Given the description of an element on the screen output the (x, y) to click on. 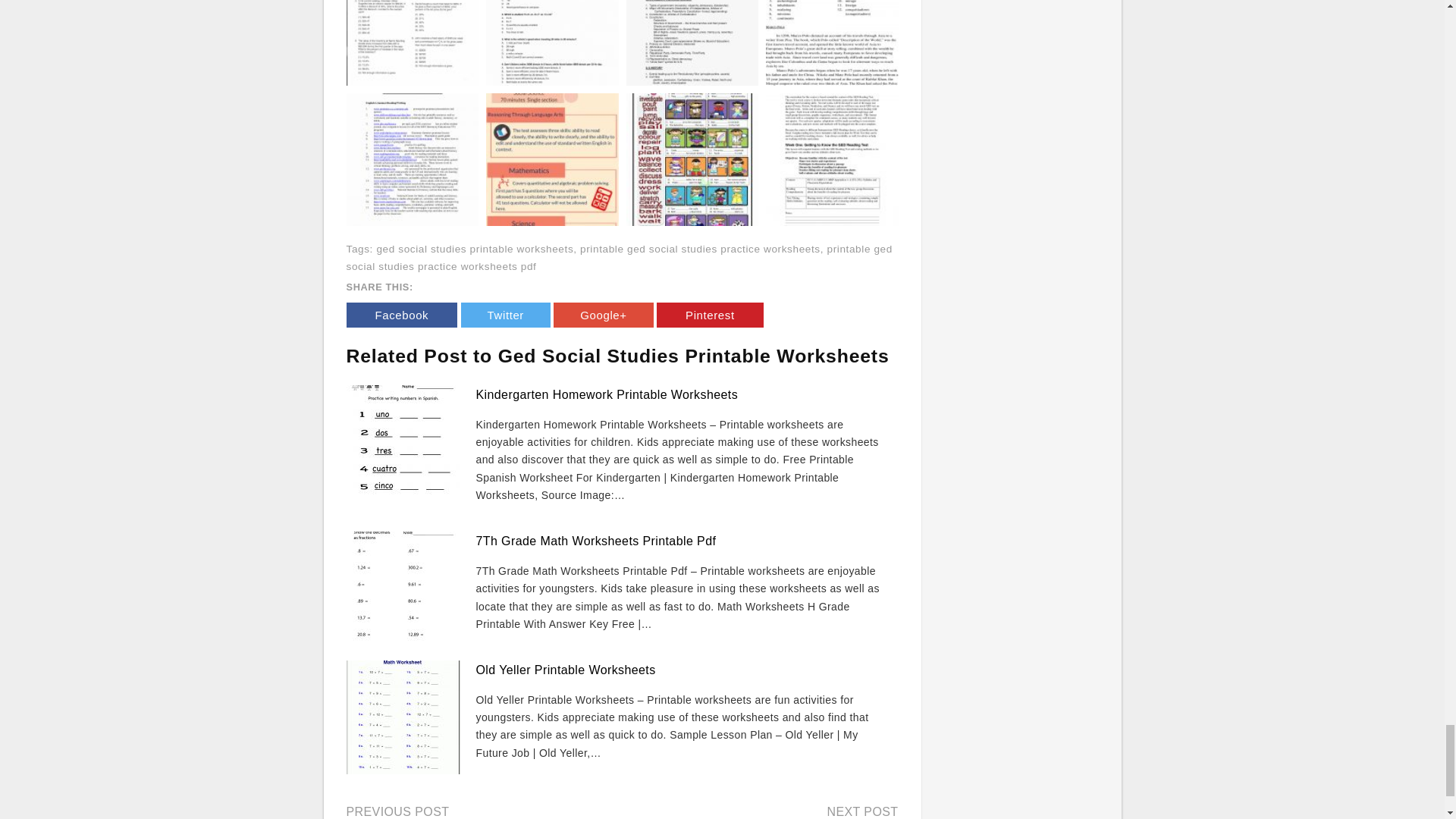
Pinterest (709, 314)
Facebook (401, 314)
Kindergarten Homework Printable Worksheets (607, 394)
Old Yeller Printable Worksheets (566, 669)
printable ged social studies practice worksheets (700, 248)
7Th Grade Math Worksheets Printable Pdf (596, 540)
Twitter (505, 314)
ged social studies printable worksheets (474, 248)
printable ged social studies practice worksheets pdf (618, 257)
